Given the description of an element on the screen output the (x, y) to click on. 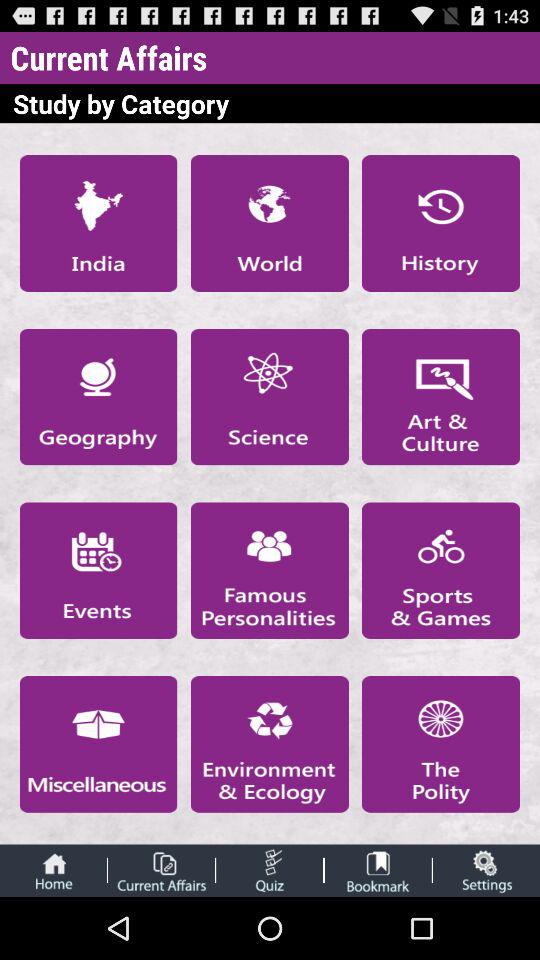
open india section (98, 223)
